Given the description of an element on the screen output the (x, y) to click on. 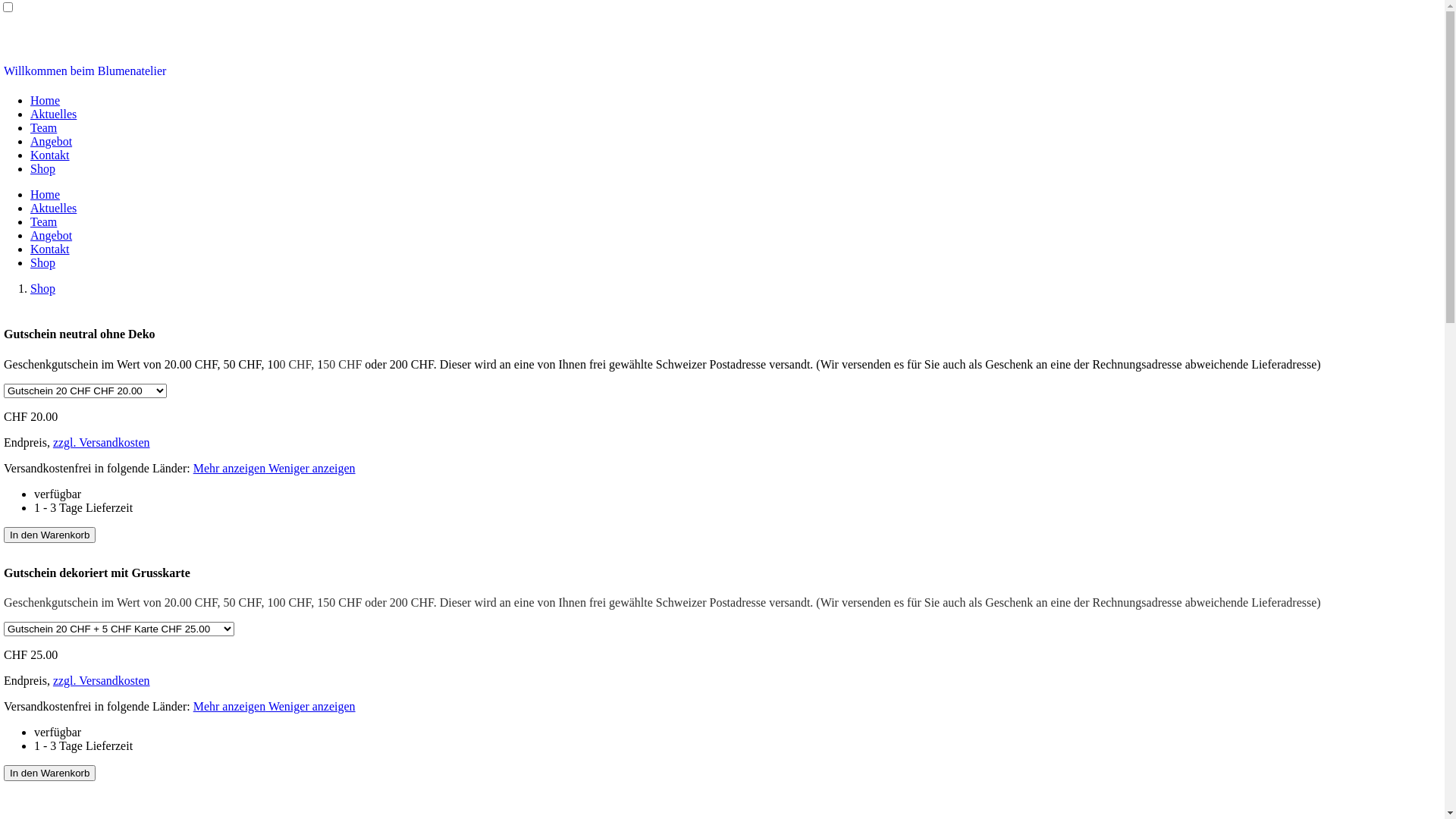
Mehr anzeigen Weniger anzeigen Element type: text (274, 467)
Aktuelles Element type: text (53, 207)
Willkommen beim Blumenatelier Element type: text (84, 70)
Home Element type: text (44, 100)
zzgl. Versandkosten Element type: text (101, 442)
Home Element type: text (44, 194)
Angebot Element type: text (51, 235)
Mehr anzeigen Weniger anzeigen Element type: text (274, 705)
zzgl. Versandkosten Element type: text (101, 680)
Kontakt Element type: text (49, 248)
Shop Element type: text (42, 168)
Team Element type: text (43, 127)
Angebot Element type: text (51, 140)
Shop Element type: text (42, 288)
Aktuelles Element type: text (53, 113)
Team Element type: text (43, 221)
In den Warenkorb Element type: text (49, 773)
Shop Element type: text (42, 262)
In den Warenkorb Element type: text (49, 534)
Kontakt Element type: text (49, 154)
